Given the description of an element on the screen output the (x, y) to click on. 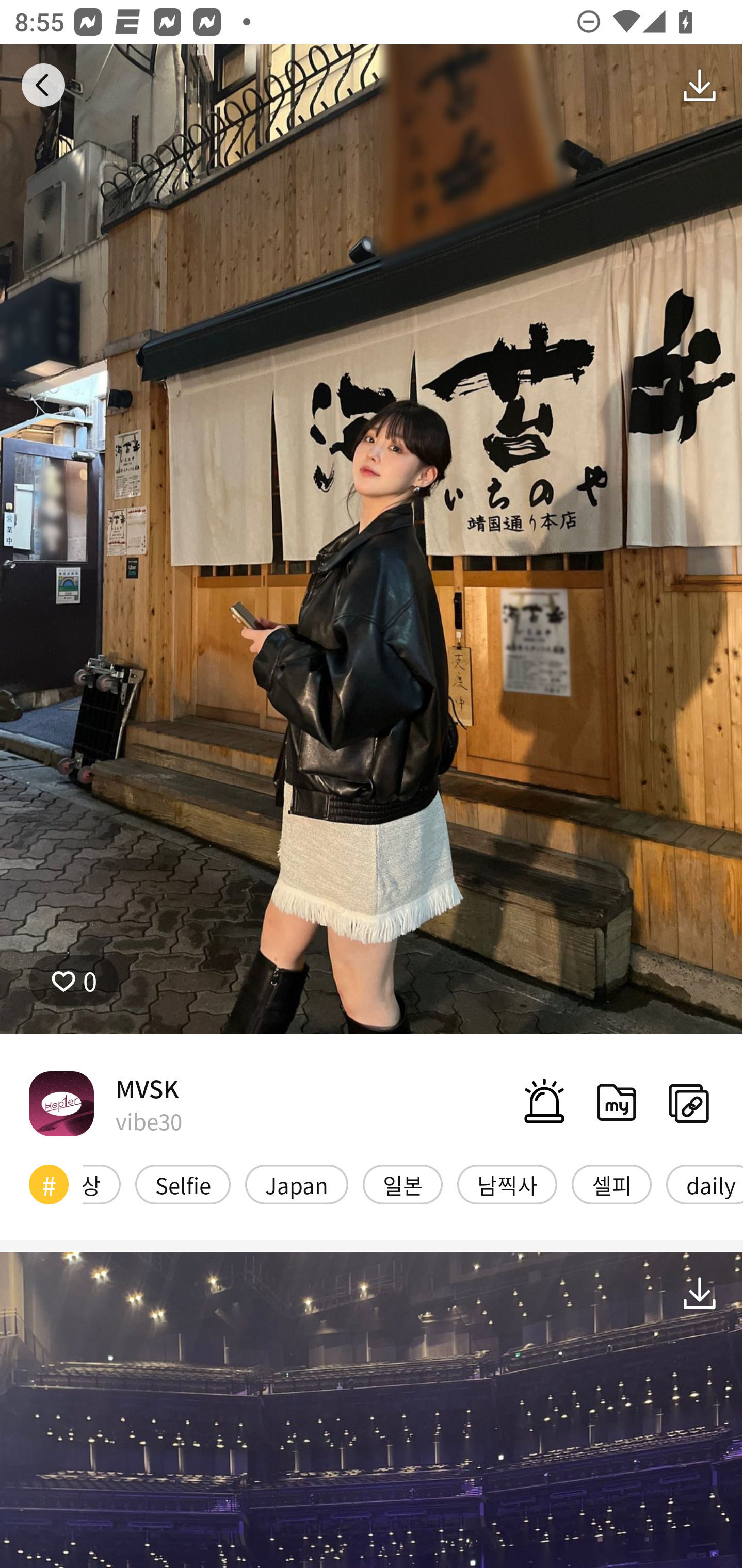
0 (73, 980)
MVSK vibe30 (105, 1102)
Selfie (182, 1184)
Japan (296, 1184)
일본 (402, 1184)
남찍사 (506, 1184)
셀피 (611, 1184)
daily (704, 1184)
